Given the description of an element on the screen output the (x, y) to click on. 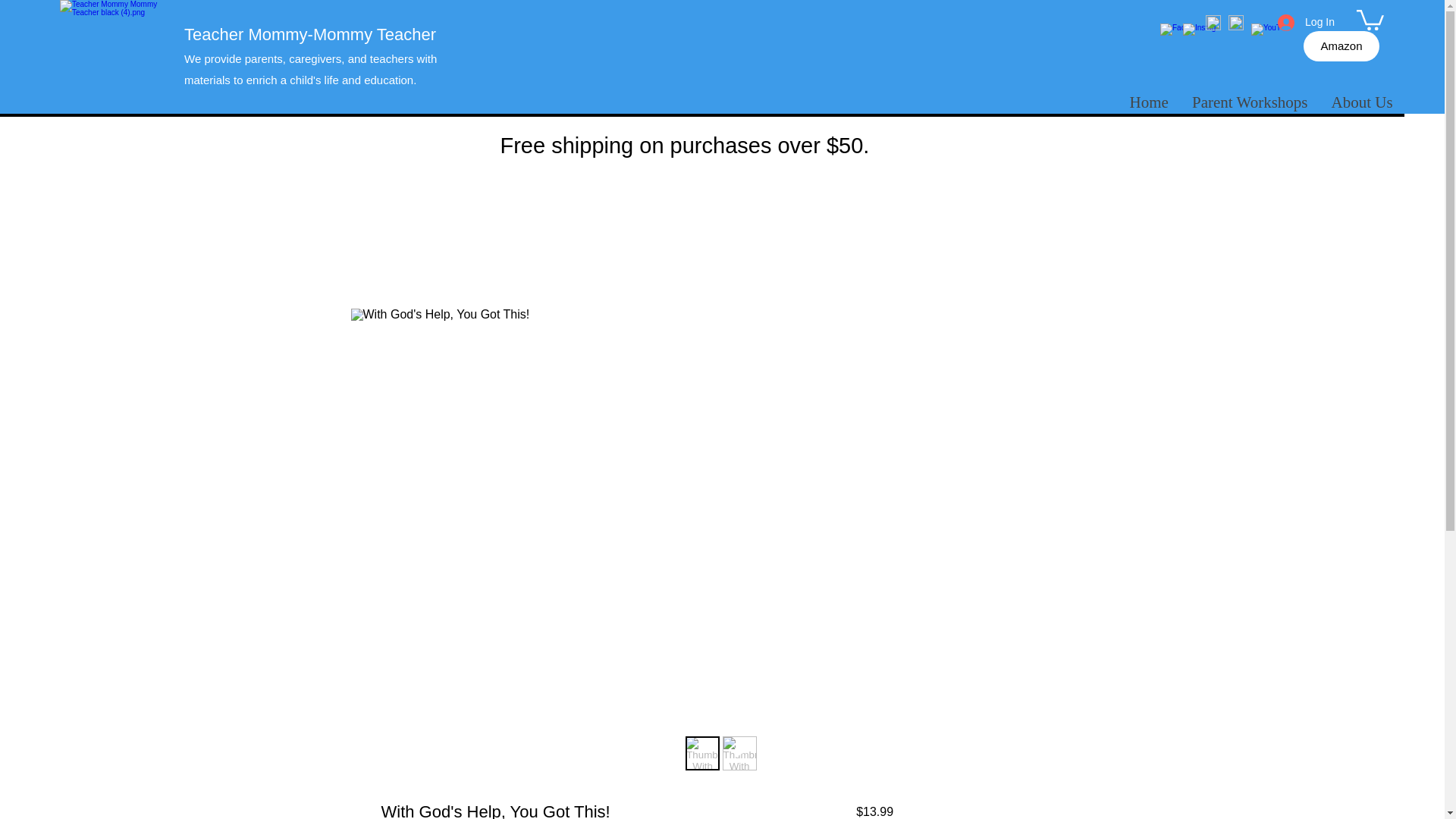
Teacher Mommy-Mommy Teacher  (312, 34)
Log In (1305, 22)
Parent Workshops (1249, 101)
Home (1148, 101)
About Us (1362, 101)
Amazon (1340, 46)
